Given the description of an element on the screen output the (x, y) to click on. 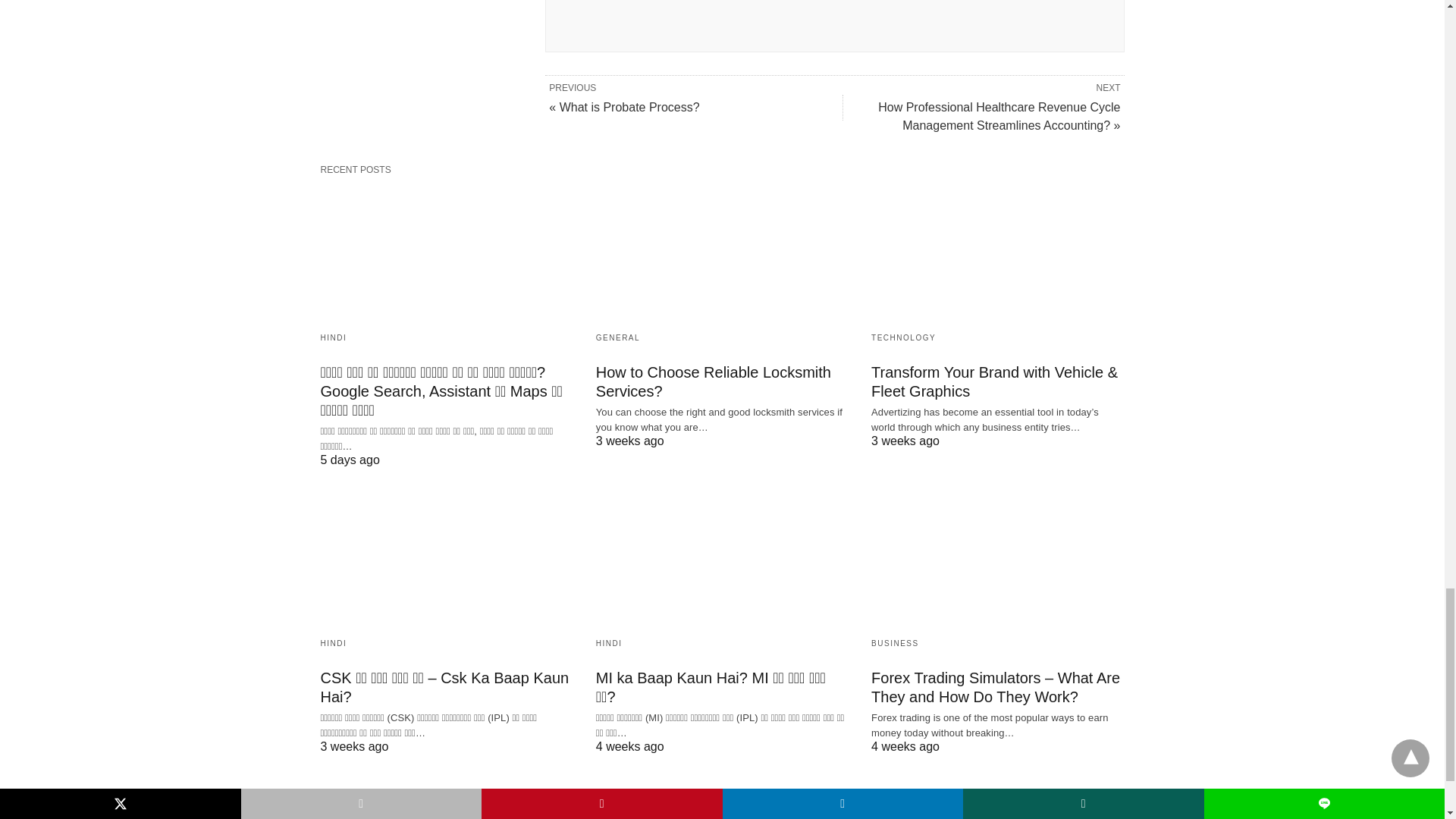
HINDI (609, 643)
GENERAL (617, 337)
TECHNOLOGY (903, 337)
How to Choose Reliable Locksmith Services? (713, 381)
BUSINESS (894, 643)
HINDI (333, 643)
How to Choose Reliable Locksmith Services? (721, 252)
HINDI (333, 337)
